Given the description of an element on the screen output the (x, y) to click on. 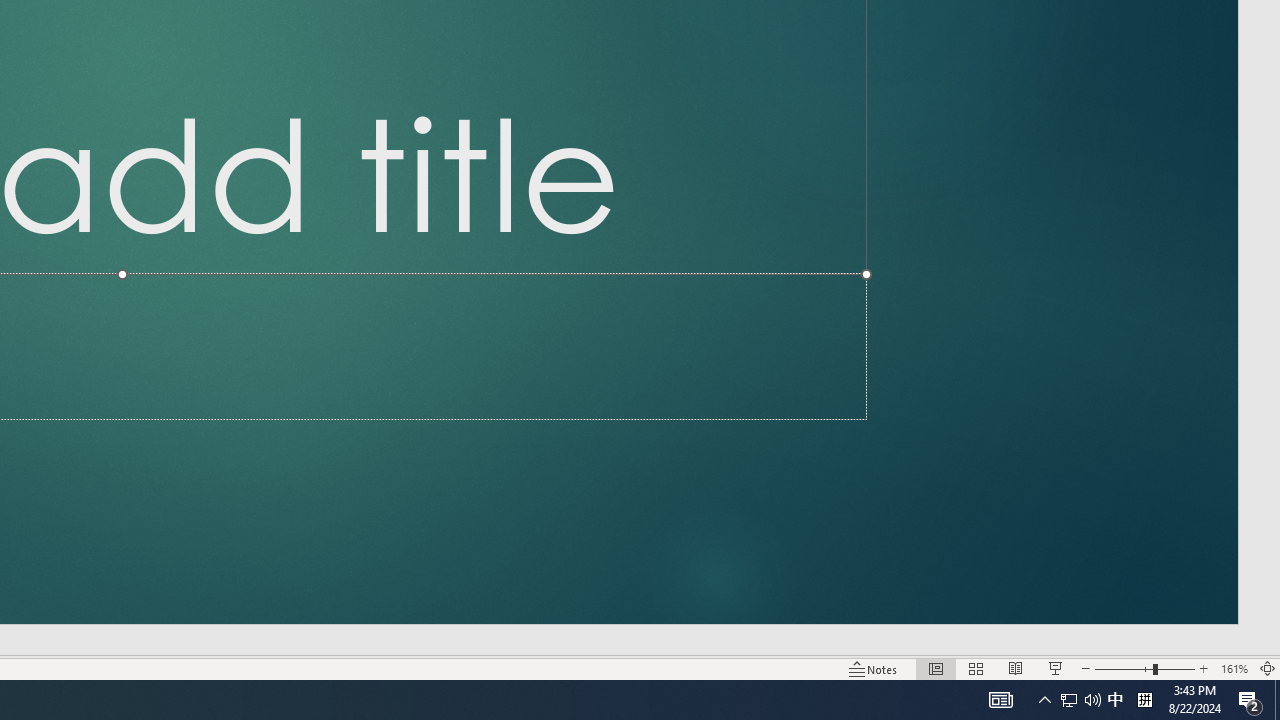
Zoom 161% (1234, 668)
